Given the description of an element on the screen output the (x, y) to click on. 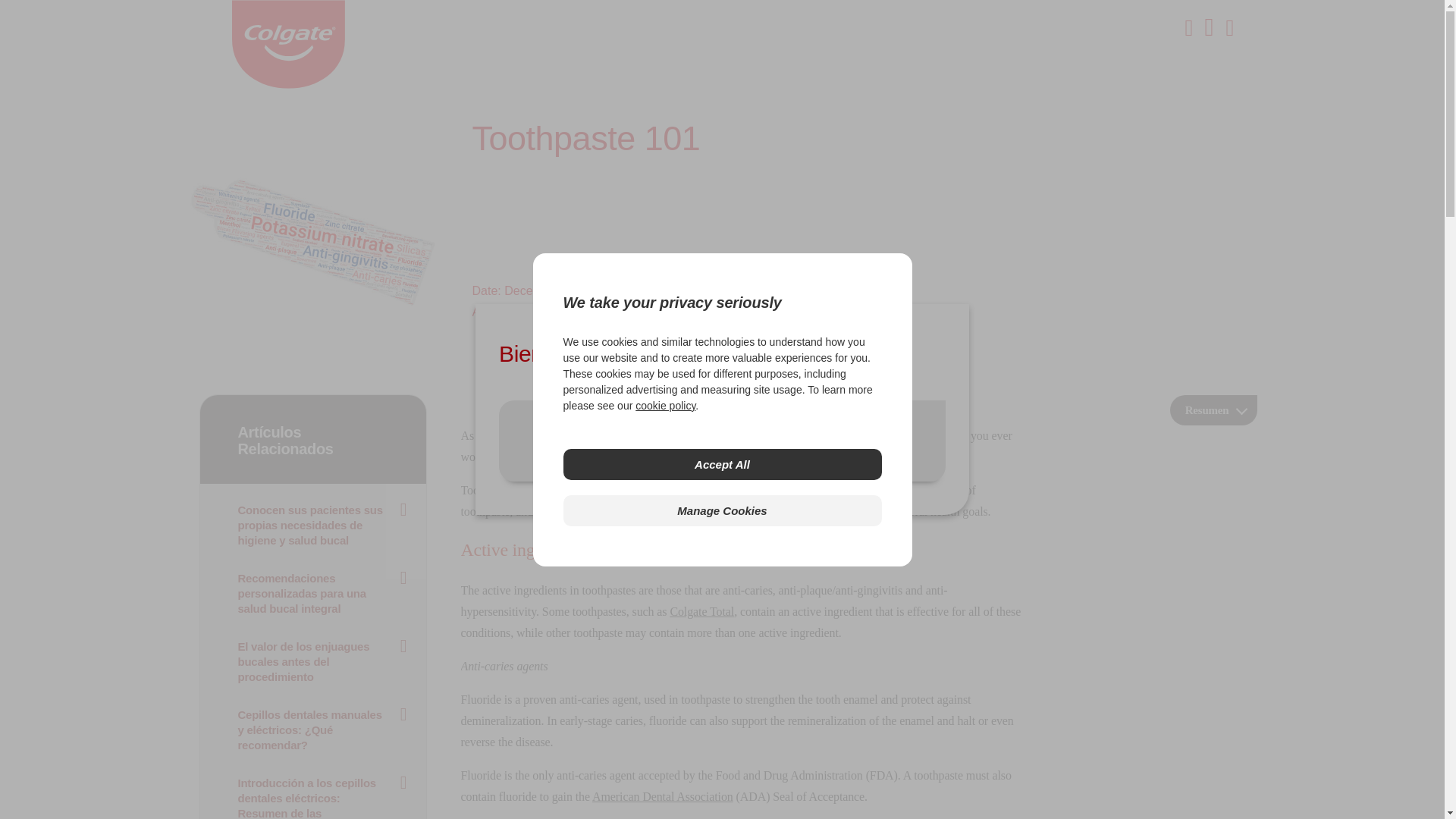
Colgate Logo (288, 44)
home (288, 83)
Colgate-Proposal-1-v4 (312, 242)
Accept All (721, 463)
Manage Cookies (721, 510)
cookie policy (664, 404)
